Given the description of an element on the screen output the (x, y) to click on. 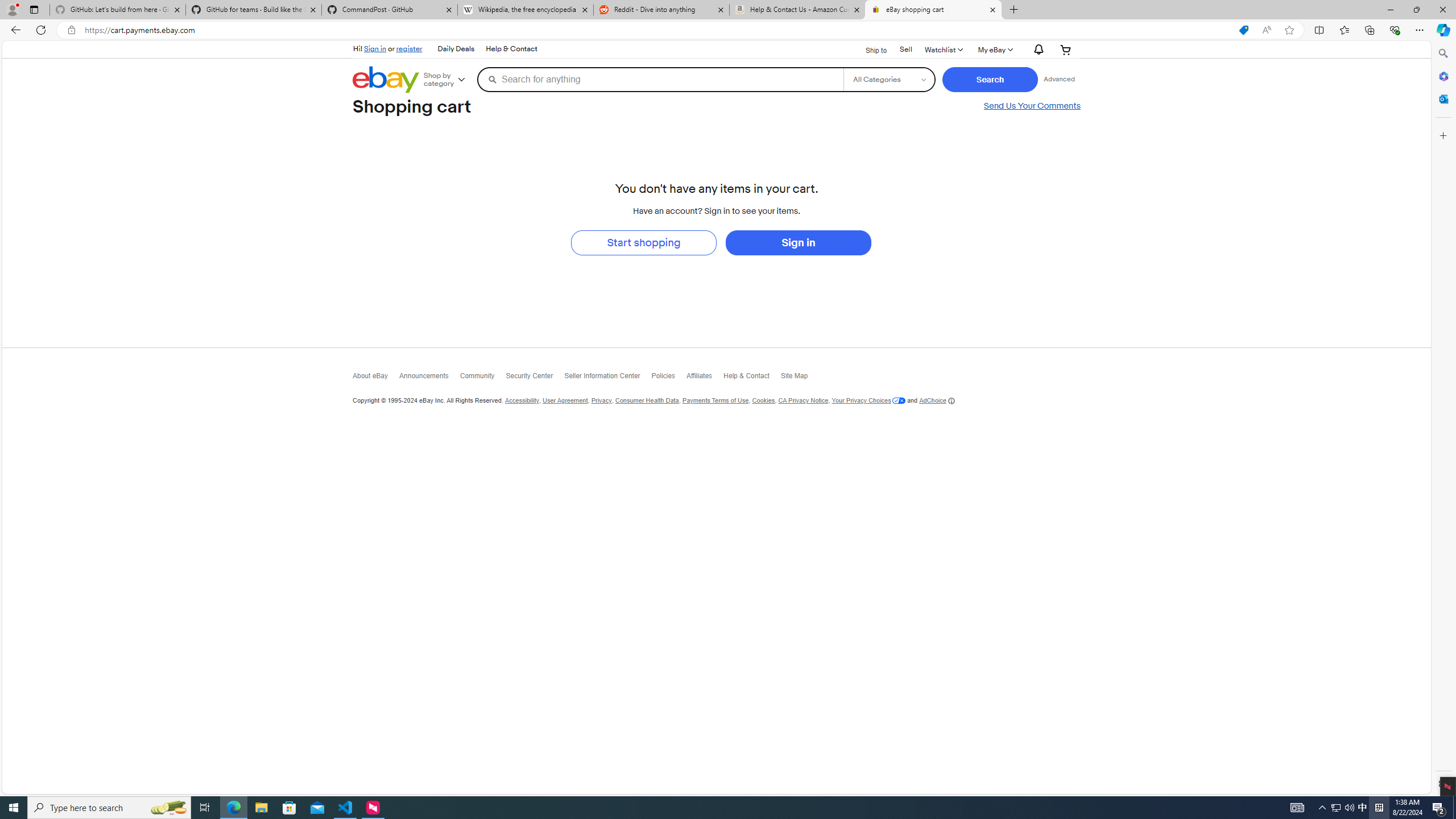
eBay Home (385, 79)
AutomationID: gh-eb-Alerts (1037, 49)
CA Privacy Notice (802, 400)
Help & Contact Us - Amazon Customer Service - Sleeping (797, 9)
Announcements (429, 377)
Select a category for search (888, 78)
Customize (1442, 135)
Site Map (799, 378)
Wikipedia, the free encyclopedia (525, 9)
About eBay (376, 377)
